Given the description of an element on the screen output the (x, y) to click on. 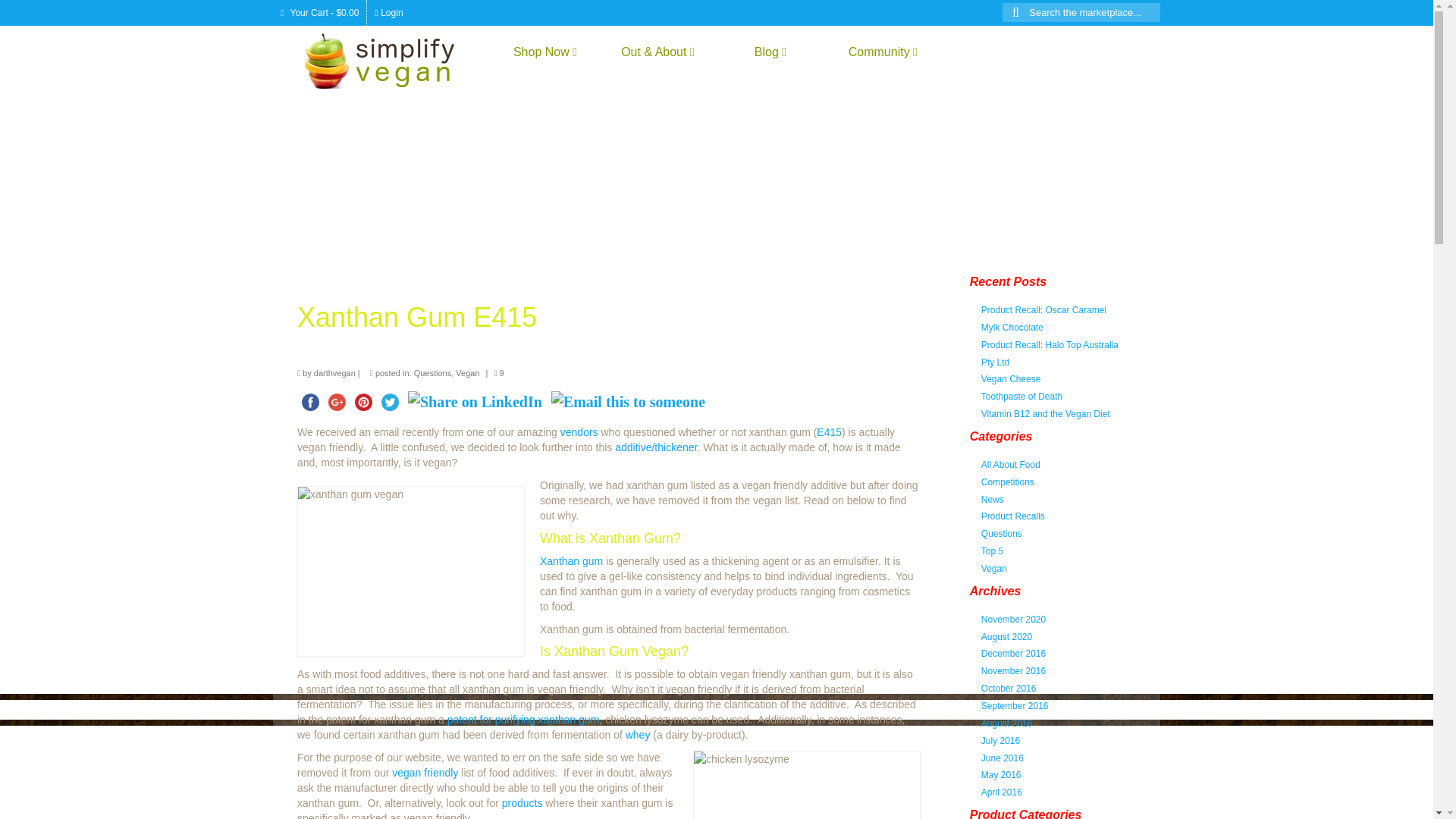
simplifyvegan.com.au (391, 59)
Email (628, 401)
View your shopping cart (319, 12)
Facebook (310, 402)
Login (388, 12)
Pinterest (363, 402)
LinkedIn (475, 401)
Login (388, 12)
Twitter (390, 402)
